Given the description of an element on the screen output the (x, y) to click on. 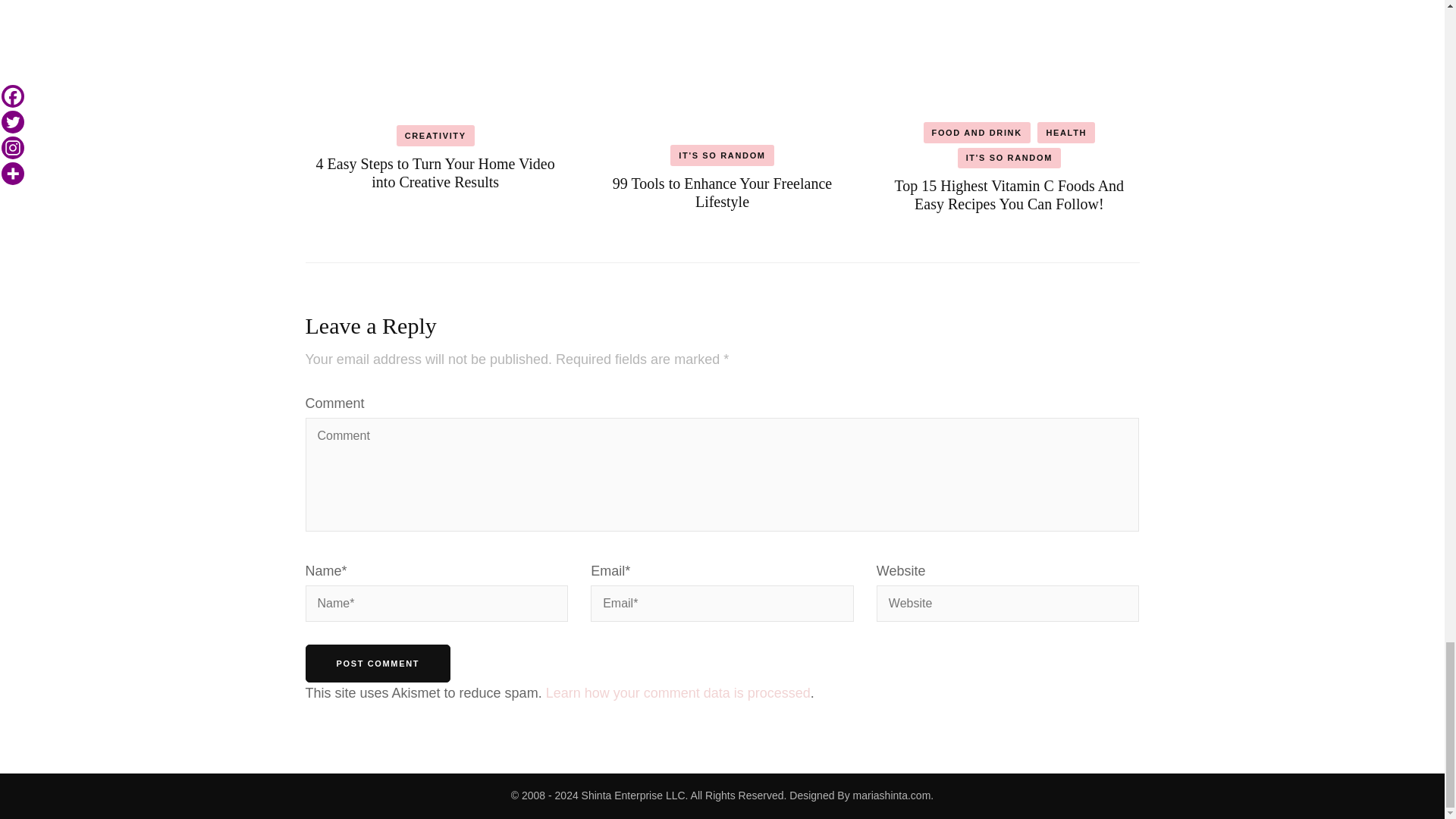
Post Comment (376, 663)
